Given the description of an element on the screen output the (x, y) to click on. 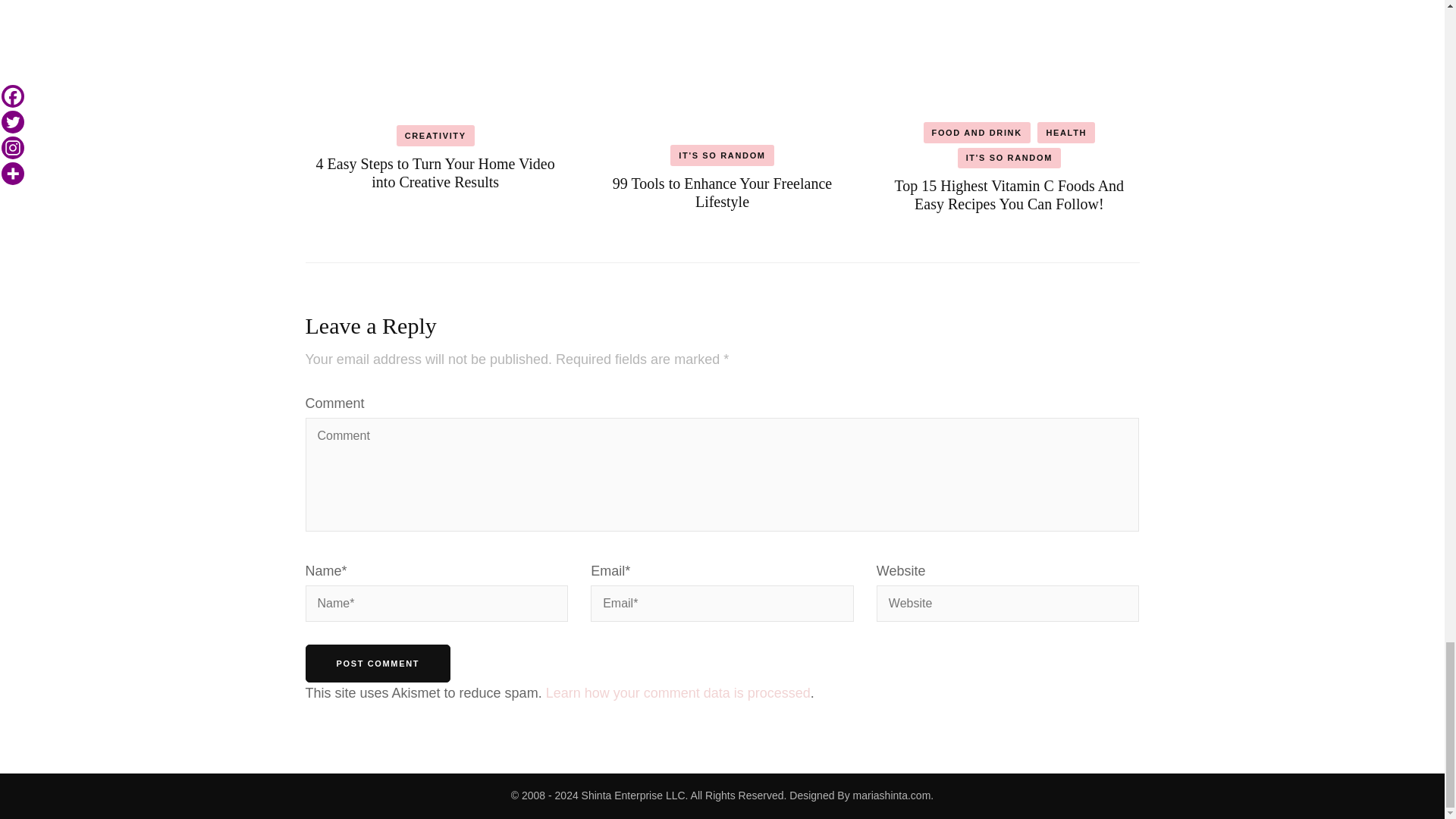
Post Comment (376, 663)
